Given the description of an element on the screen output the (x, y) to click on. 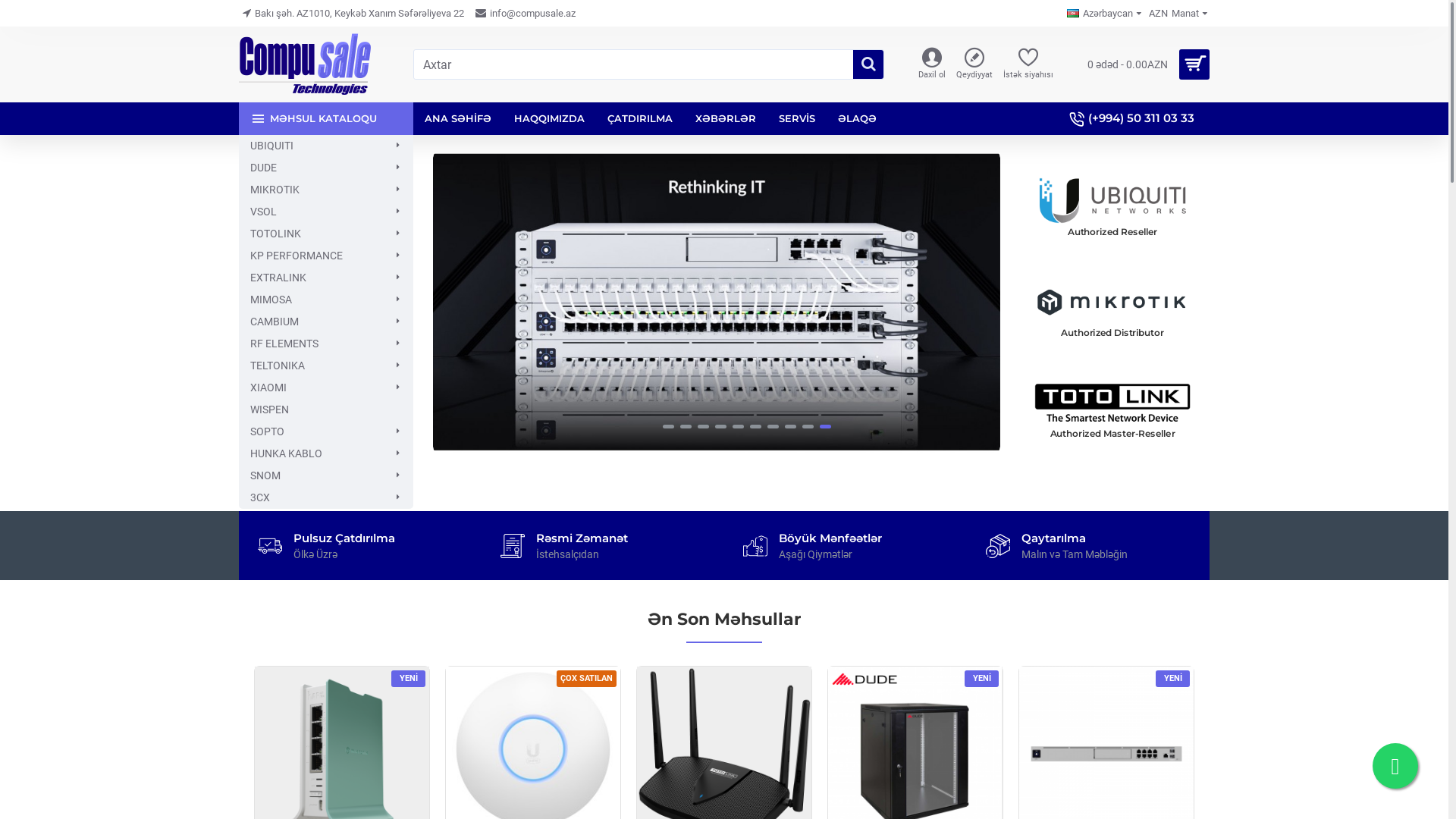
3CX Element type: text (325, 497)
Compusale Technologies Element type: hover (304, 64)
WISPEN Element type: text (325, 409)
KP PERFORMANCE Element type: text (325, 255)
HAQQIMIZDA Element type: text (549, 118)
RF ELEMENTS Element type: text (325, 343)
Daxil ol Element type: text (931, 64)
EXTRALINK Element type: text (325, 277)
SERVIS Element type: text (796, 118)
Authorized Master-Reseller Element type: text (1112, 402)
DUDE Element type: text (325, 167)
VSOL Element type: text (325, 211)
HUNKA KABLO Element type: text (325, 453)
TELTONIKA Element type: text (325, 365)
XIAOMI Element type: text (325, 387)
(+994) 50 311 03 33 Element type: text (1133, 118)
Authorized Distributor Element type: text (1112, 301)
SNOM Element type: text (325, 475)
SOPTO Element type: text (325, 431)
info@compusale.az Element type: text (525, 13)
MIKROTIK Element type: text (325, 189)
Authorized Reseller Element type: text (1112, 200)
MIMOSA Element type: text (325, 299)
CAMBIUM Element type: text (325, 321)
Qeydiyyat Element type: text (974, 64)
AZN
Manat Element type: text (1173, 13)
UBIQUITI Element type: text (325, 145)
TOTOLINK Element type: text (325, 233)
